Given the description of an element on the screen output the (x, y) to click on. 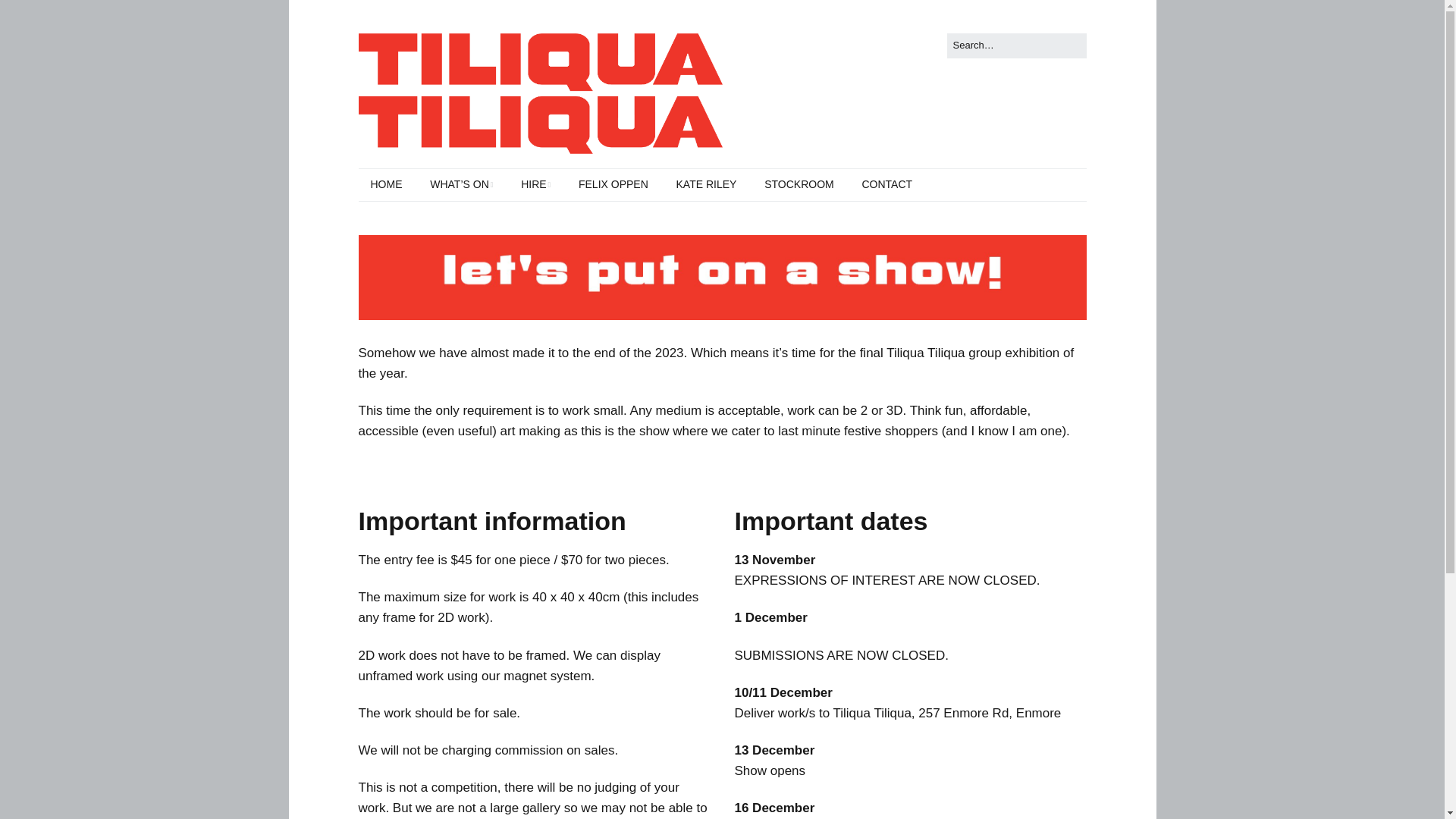
HIRE (535, 184)
Press Enter to submit your search (1016, 45)
FELIX OPPEN (613, 184)
KATE RILEY (706, 184)
STOCKROOM (798, 184)
Search (29, 15)
CONTACT (886, 184)
HOME (385, 184)
